Given the description of an element on the screen output the (x, y) to click on. 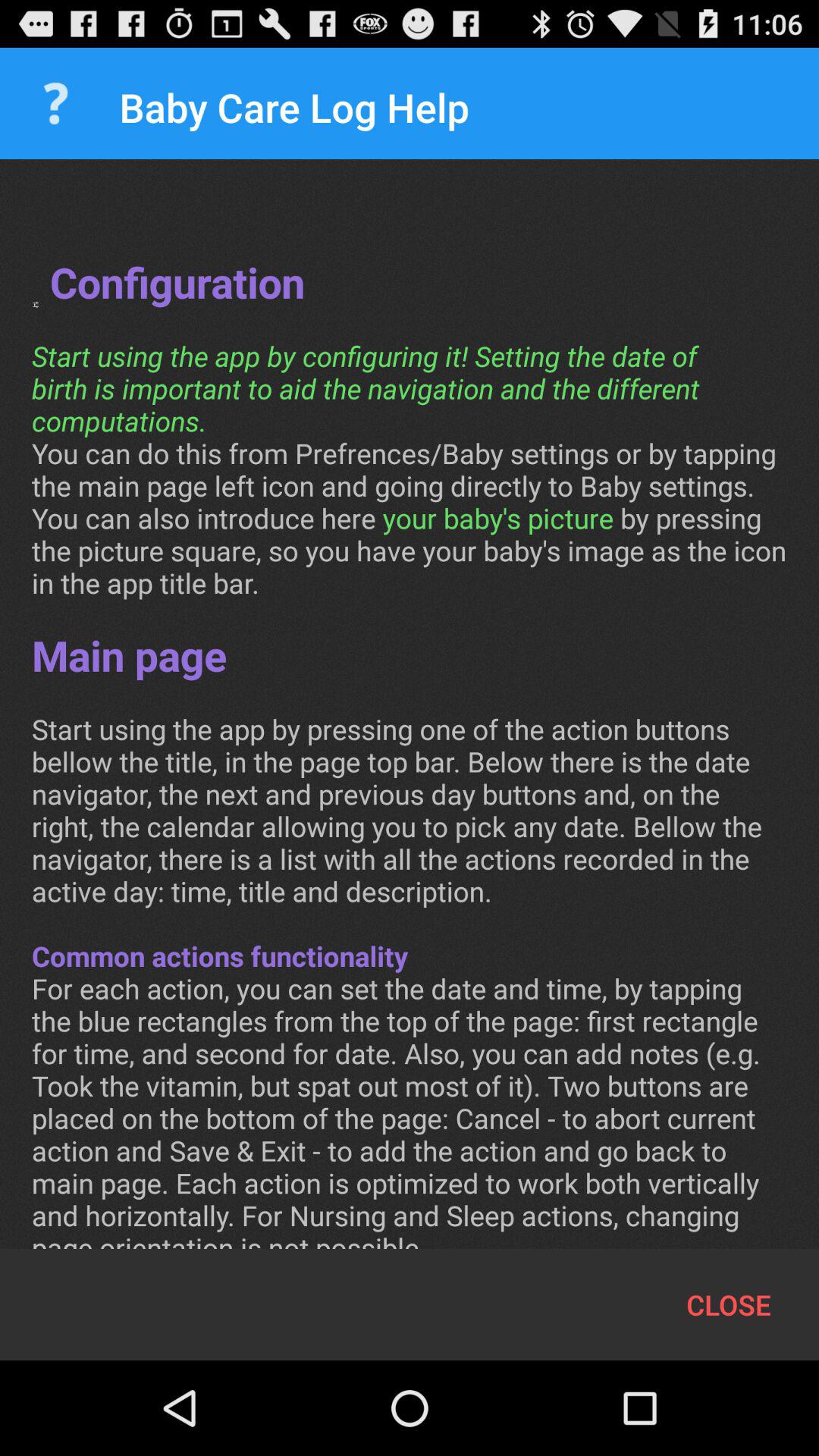
jump until conf configuration start icon (409, 719)
